Given the description of an element on the screen output the (x, y) to click on. 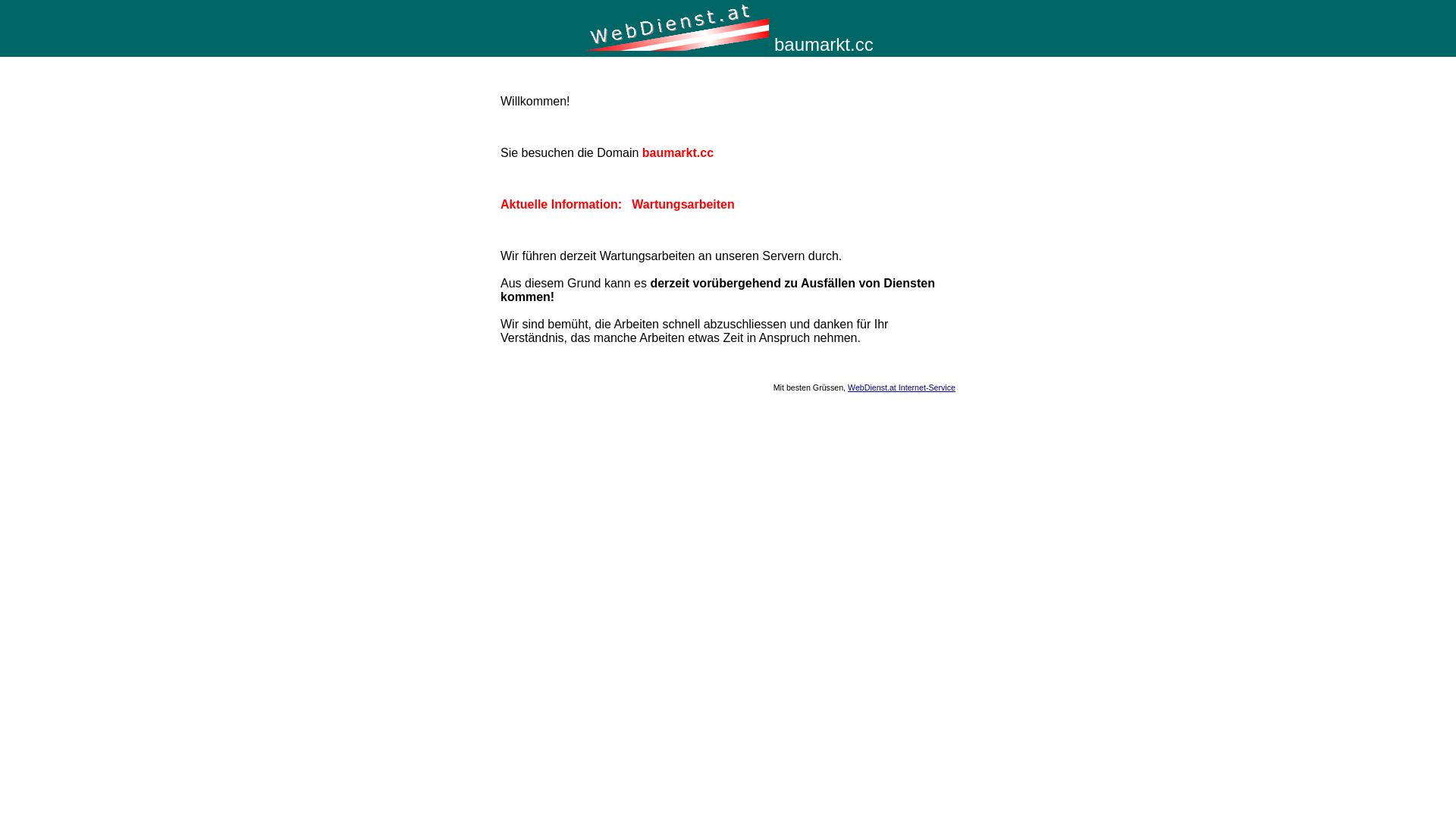
WebDienst.at Internet-Service Element type: text (901, 387)
